Given the description of an element on the screen output the (x, y) to click on. 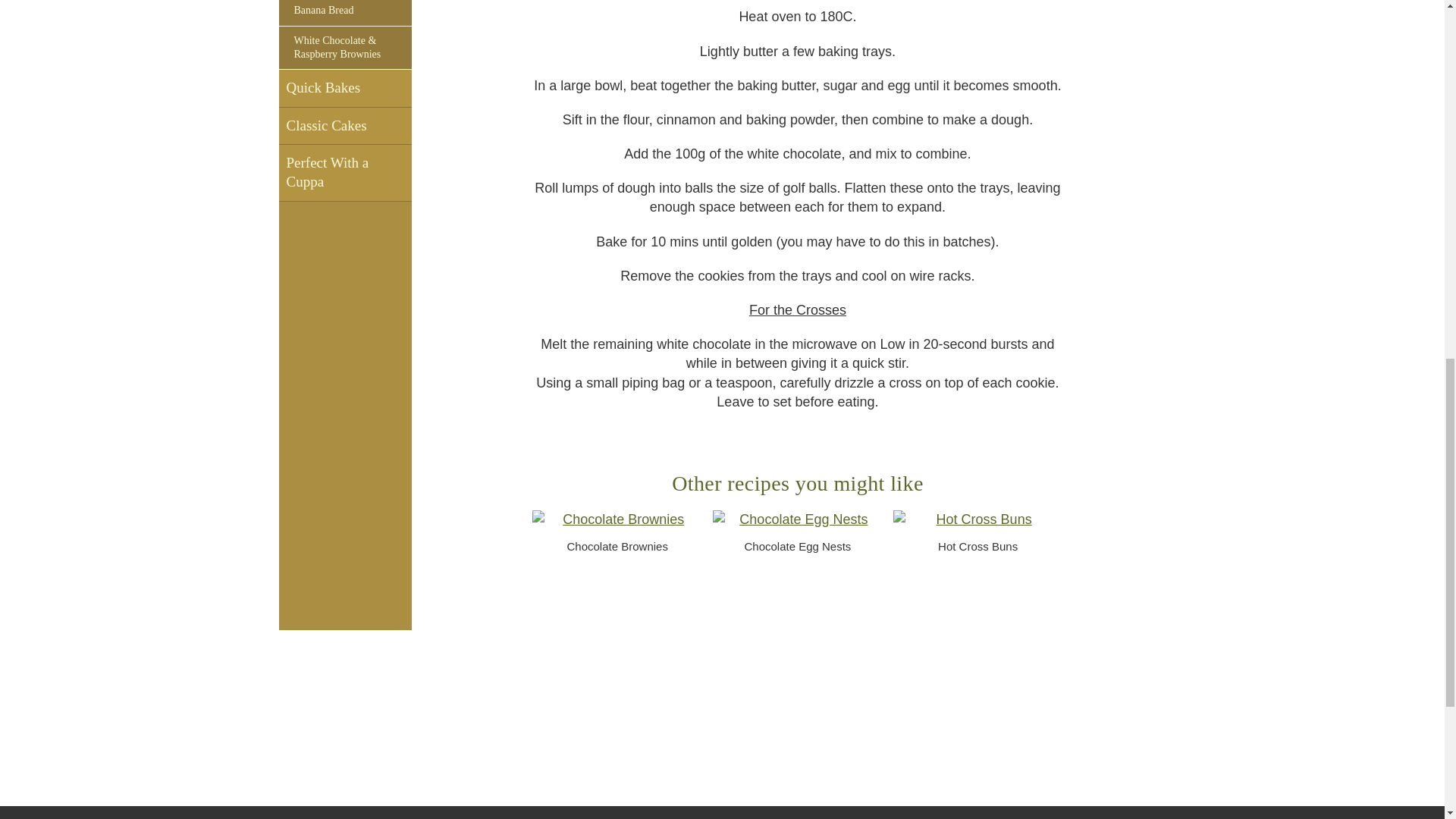
Banana Bread (345, 12)
Classic Cakes (345, 126)
Quick Bakes (345, 88)
